Given the description of an element on the screen output the (x, y) to click on. 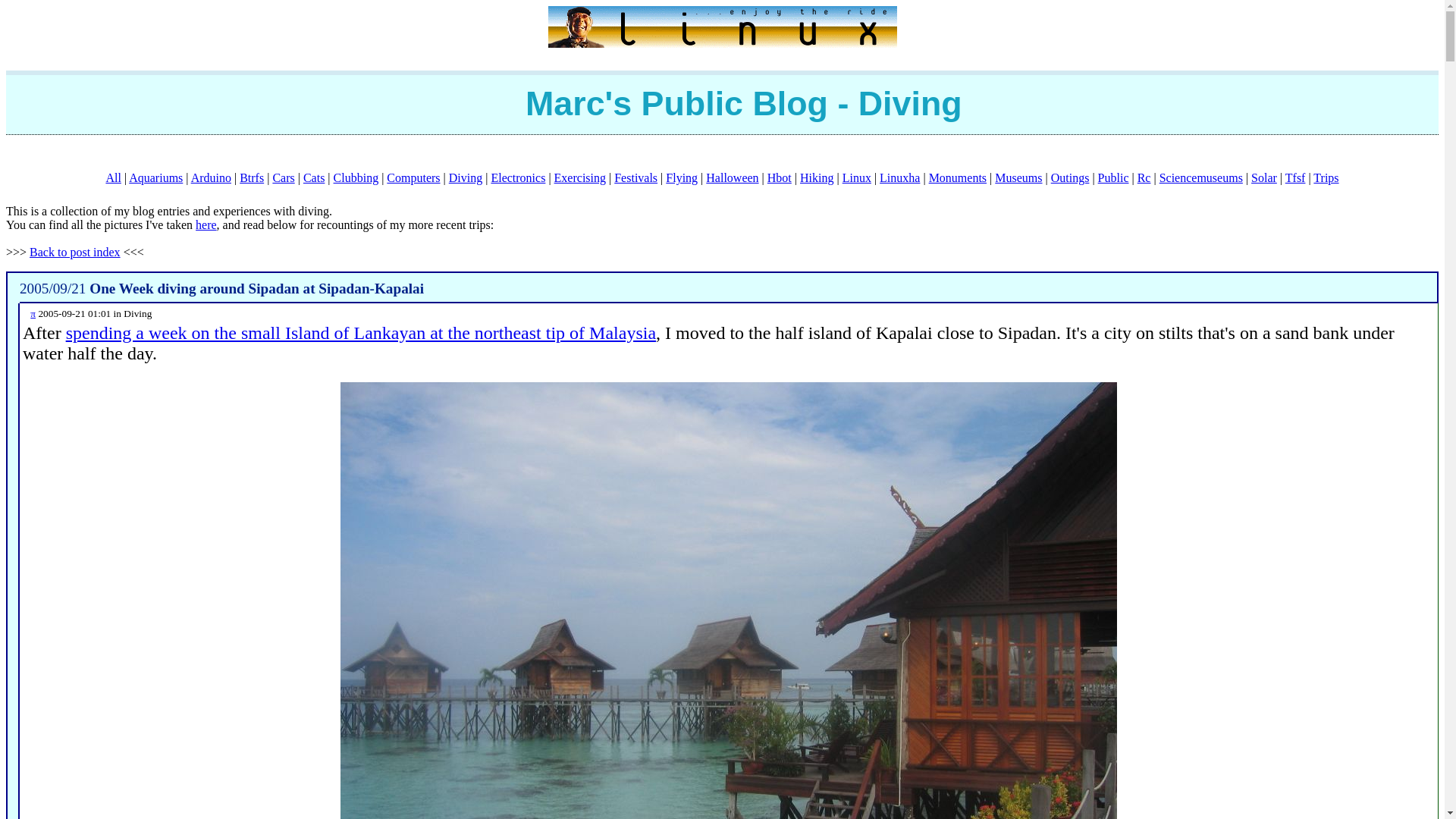
Linuxha (899, 177)
Clubbing (355, 177)
Arduino (210, 177)
Public (1113, 177)
Exercising (579, 177)
Tfsf (1295, 177)
Trips (1325, 177)
Sciencemuseums (1200, 177)
Flying (681, 177)
here (205, 224)
Solar (1263, 177)
Museums (1018, 177)
Outings (1070, 177)
Cars (283, 177)
Diving (464, 177)
